Given the description of an element on the screen output the (x, y) to click on. 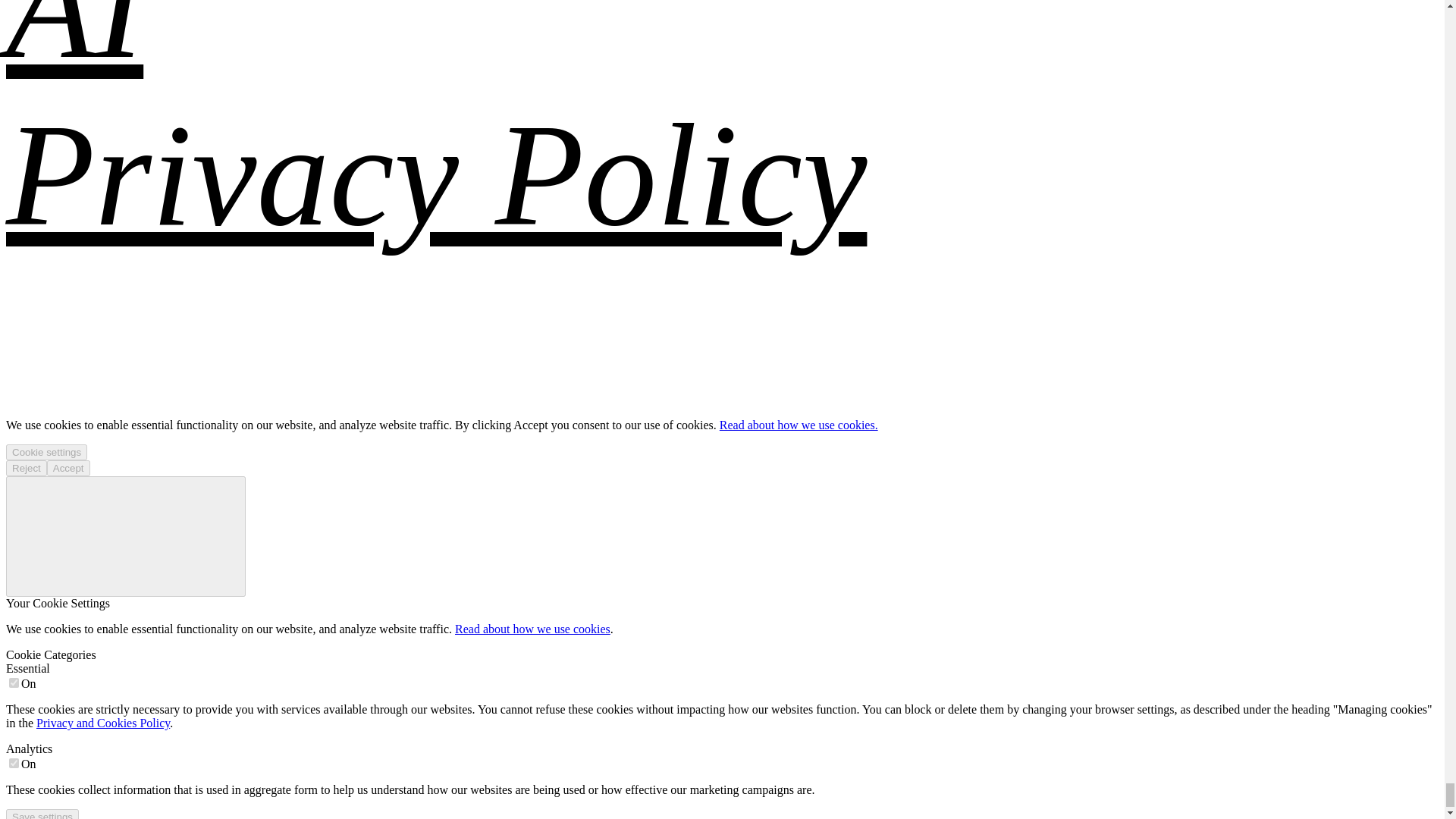
Reject (25, 467)
Accept (68, 467)
Read about how we use cookies. (798, 424)
on (13, 682)
Privacy and Cookies Policy (103, 722)
Cookie settings (46, 452)
Read about how we use cookies (532, 628)
on (13, 763)
Transforming Manufacturing: The Multifaceted Impact Of AI (701, 44)
